Given the description of an element on the screen output the (x, y) to click on. 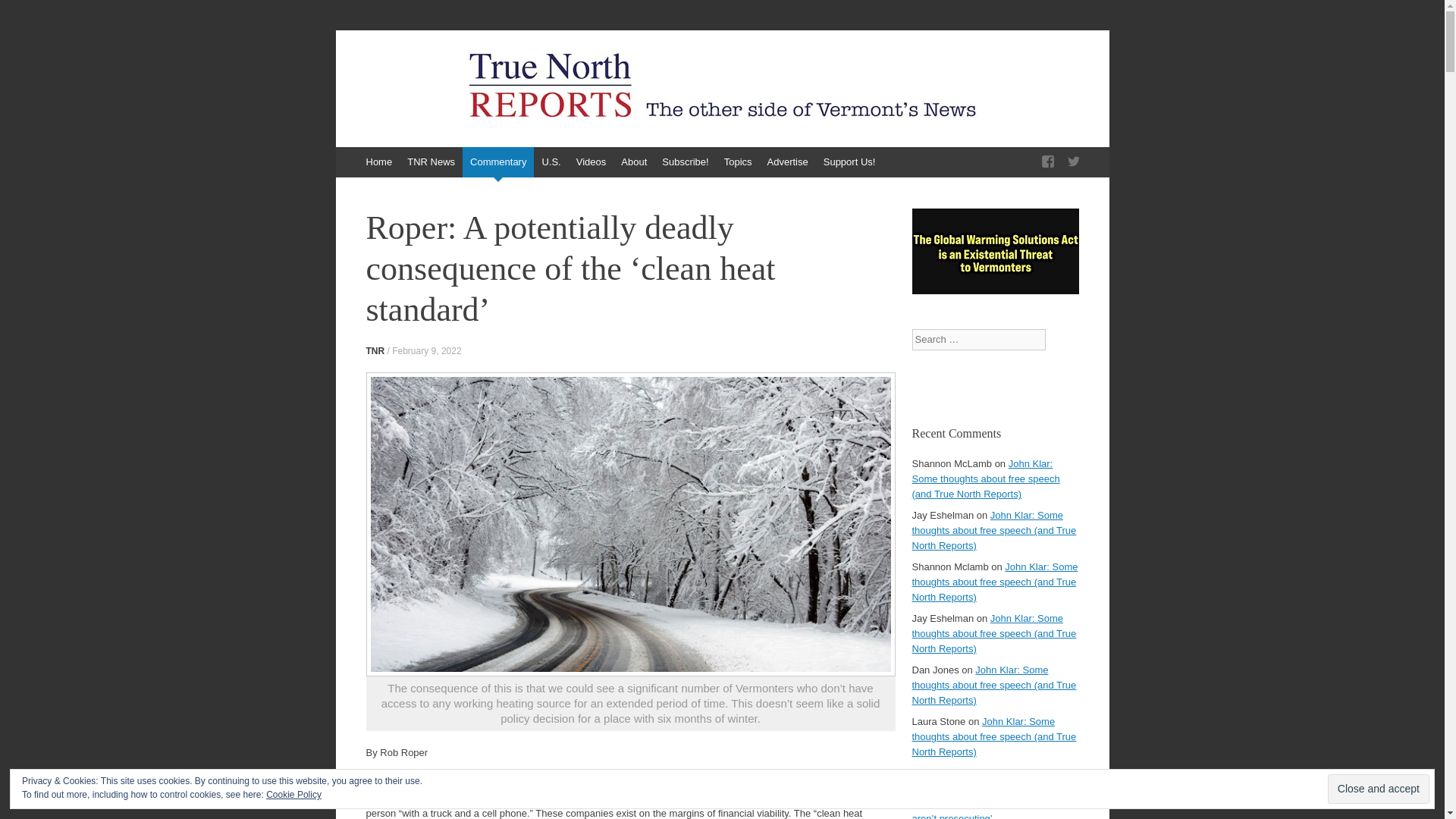
Global Warming Solutions Act (994, 290)
About (632, 162)
Home (378, 162)
True North Reports (465, 80)
Topics (738, 162)
Commentary (498, 162)
Videos (591, 162)
Skip to content (342, 154)
TNR News (430, 162)
True North Reports (465, 80)
